Given the description of an element on the screen output the (x, y) to click on. 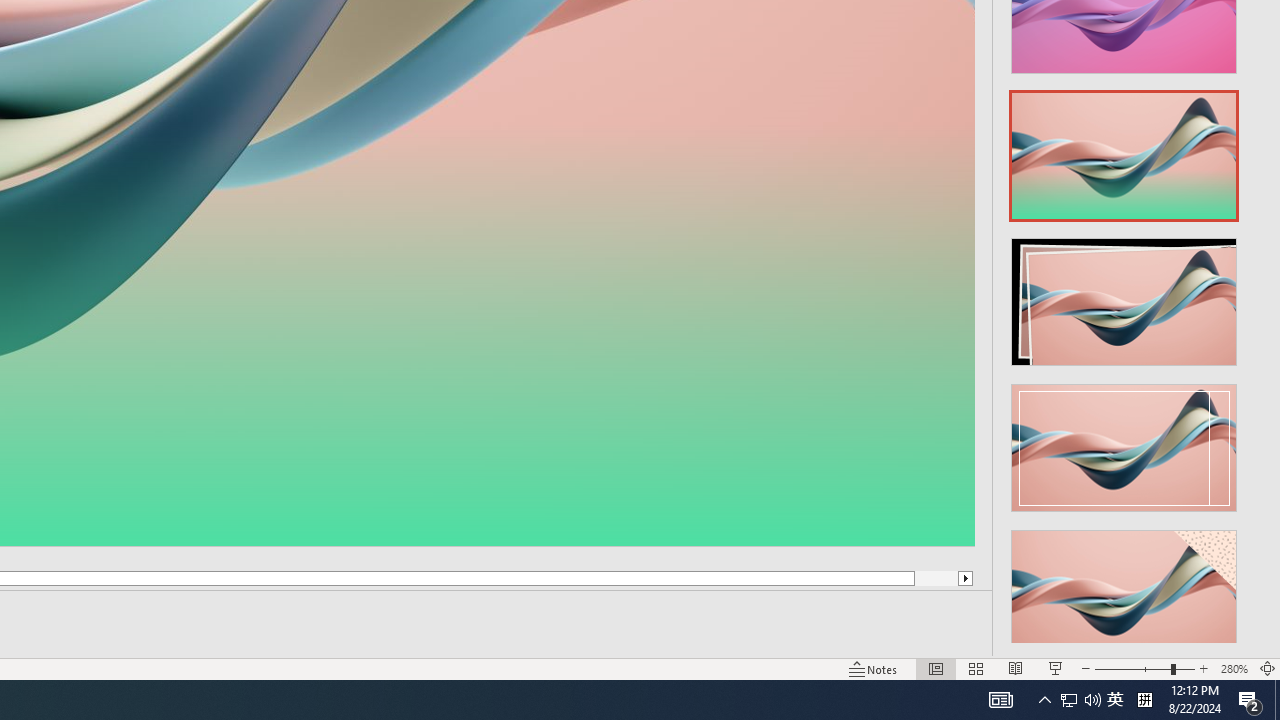
Zoom 280% (1234, 668)
Design Idea (1124, 587)
